Given the description of an element on the screen output the (x, y) to click on. 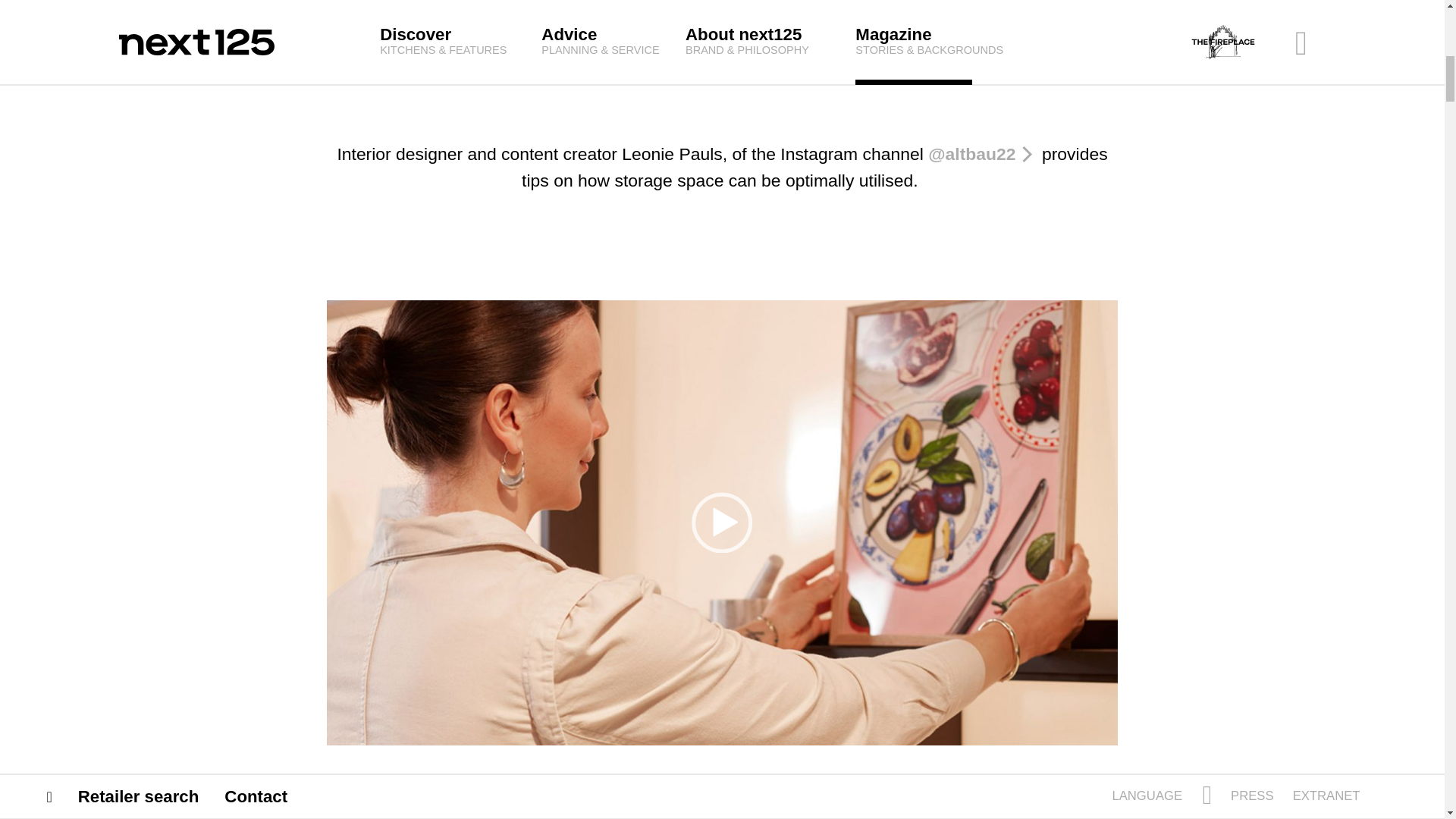
Play (721, 522)
